Given the description of an element on the screen output the (x, y) to click on. 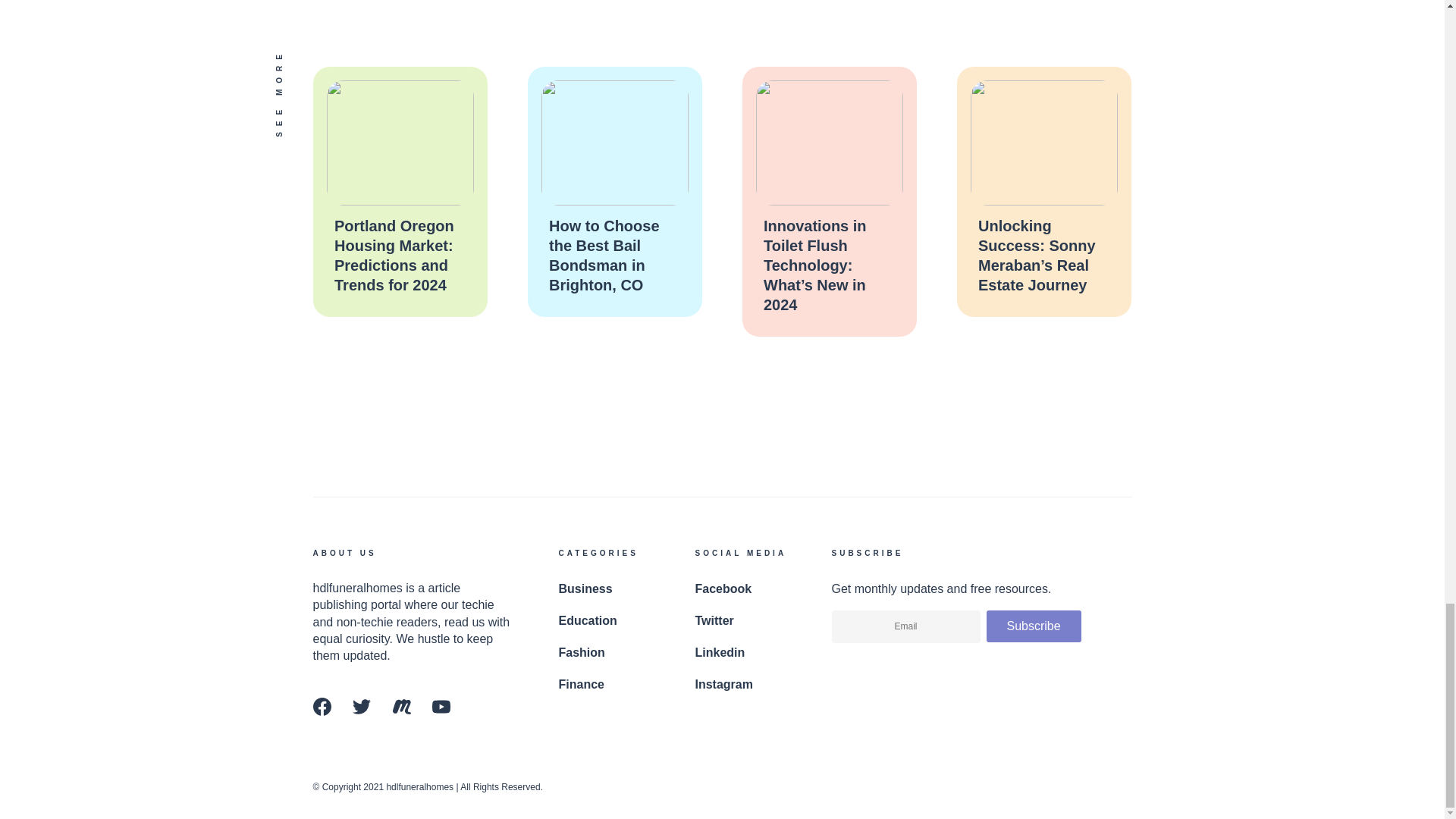
How to Choose the Best Bail Bondsman in Brighton, CO (603, 255)
